Given the description of an element on the screen output the (x, y) to click on. 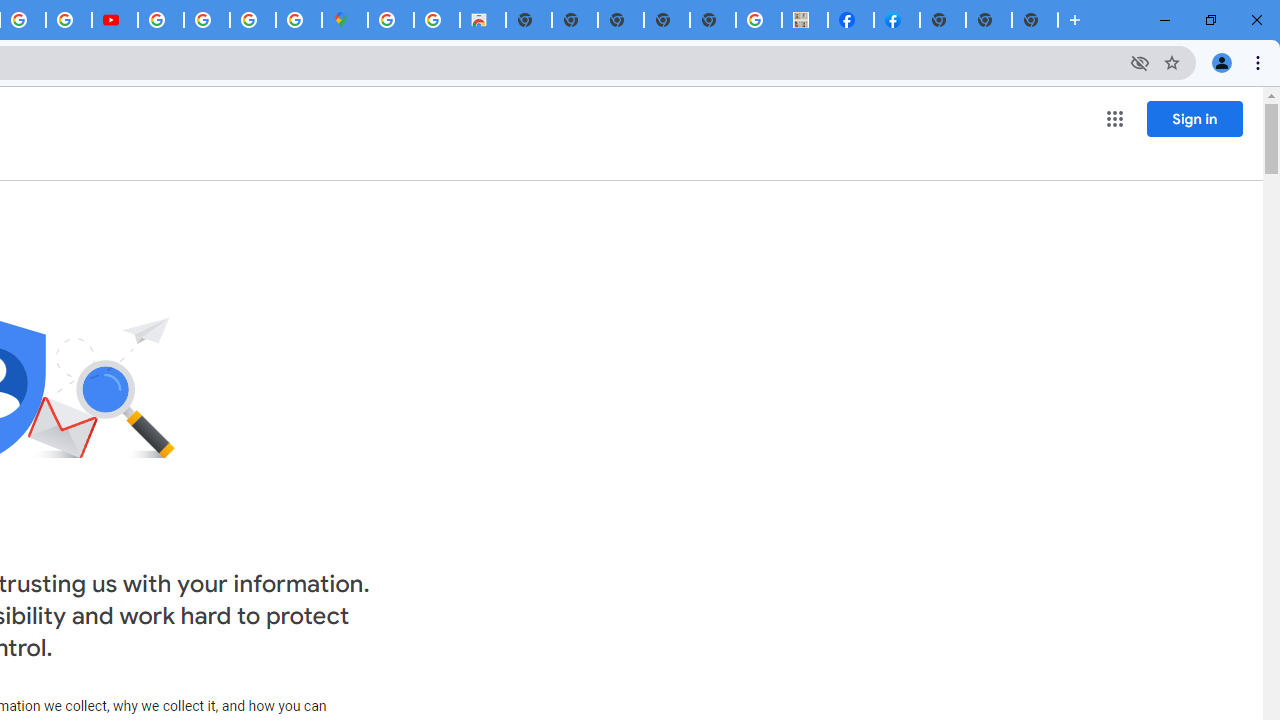
Sign Up for Facebook (897, 20)
Google Maps (345, 20)
New Tab (1035, 20)
MILEY CYRUS. (805, 20)
Miley Cyrus | Facebook (851, 20)
